Given the description of an element on the screen output the (x, y) to click on. 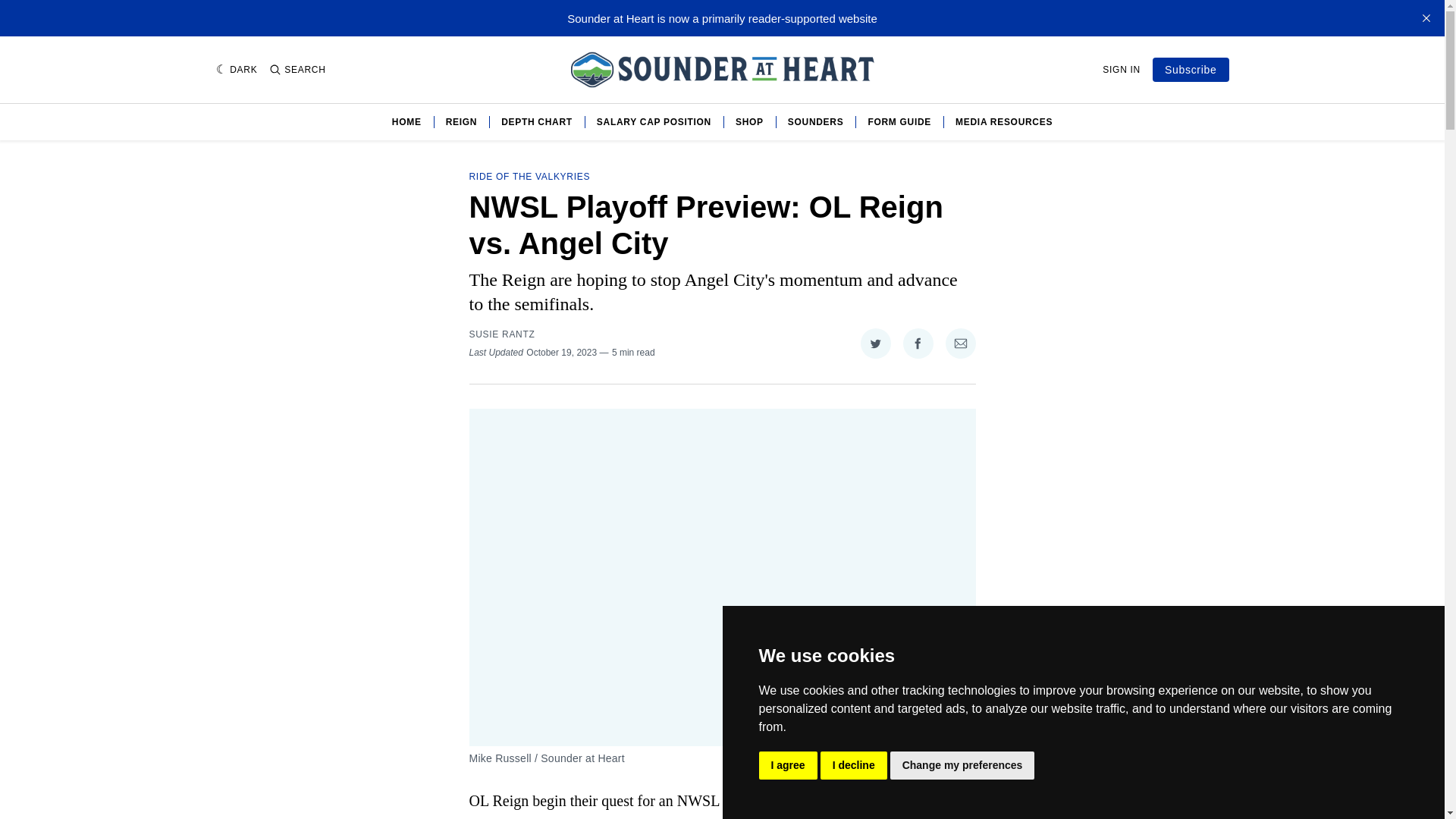
FORM GUIDE (899, 121)
Share on Facebook (917, 343)
HOME (406, 121)
Share on Twitter (874, 343)
Subscribe (1190, 69)
SIGN IN (1121, 69)
SALARY CAP POSITION (653, 121)
MEDIA RESOURCES (1003, 121)
I decline (853, 765)
SHOP (748, 121)
